Given the description of an element on the screen output the (x, y) to click on. 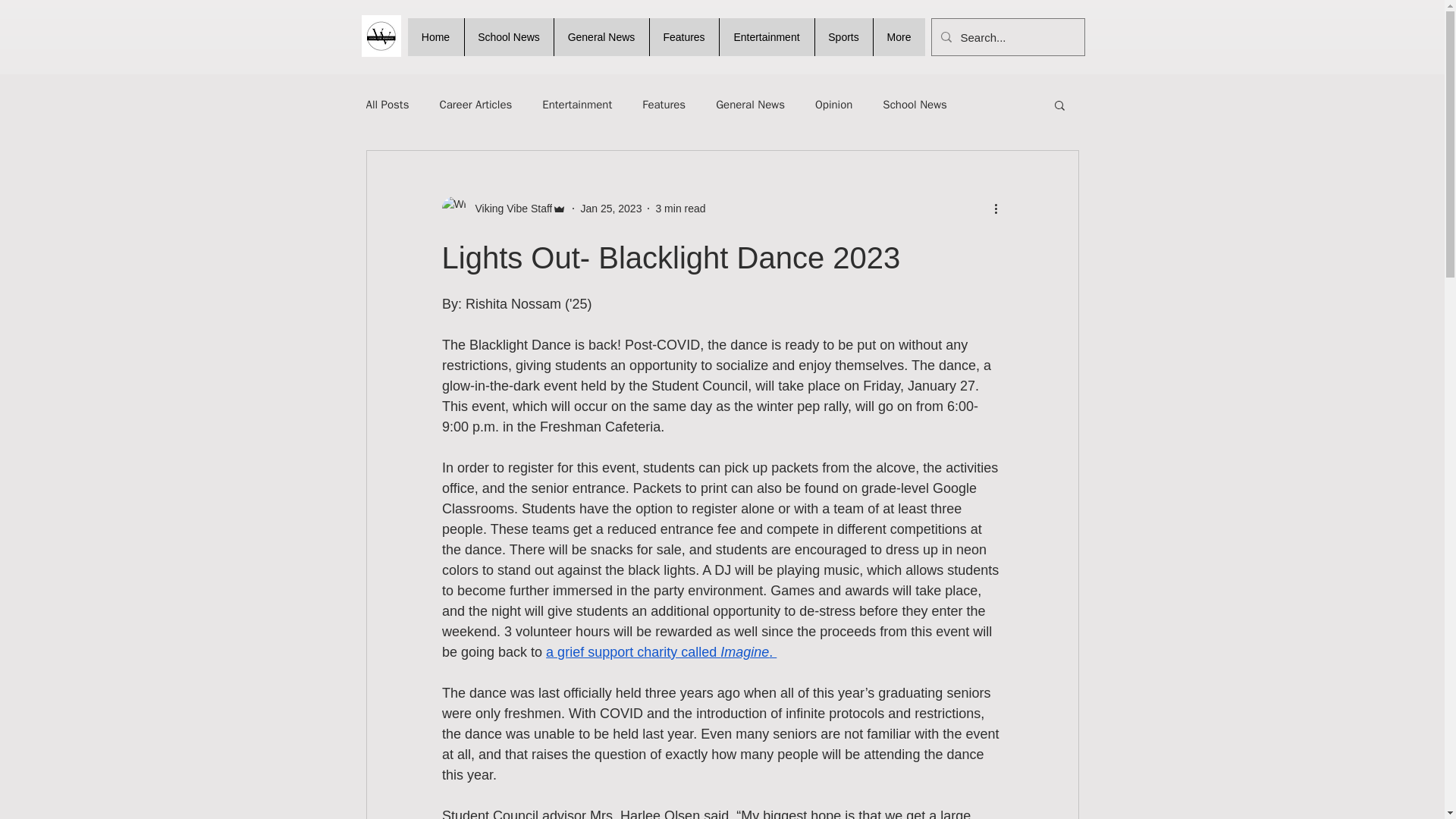
General News (750, 104)
Imagine (744, 652)
Sports (842, 37)
School News (508, 37)
School News (914, 104)
3 min read (679, 207)
Entertainment (766, 37)
Viking Vibe Staff (503, 208)
Features (684, 37)
Career Articles (475, 104)
